Given the description of an element on the screen output the (x, y) to click on. 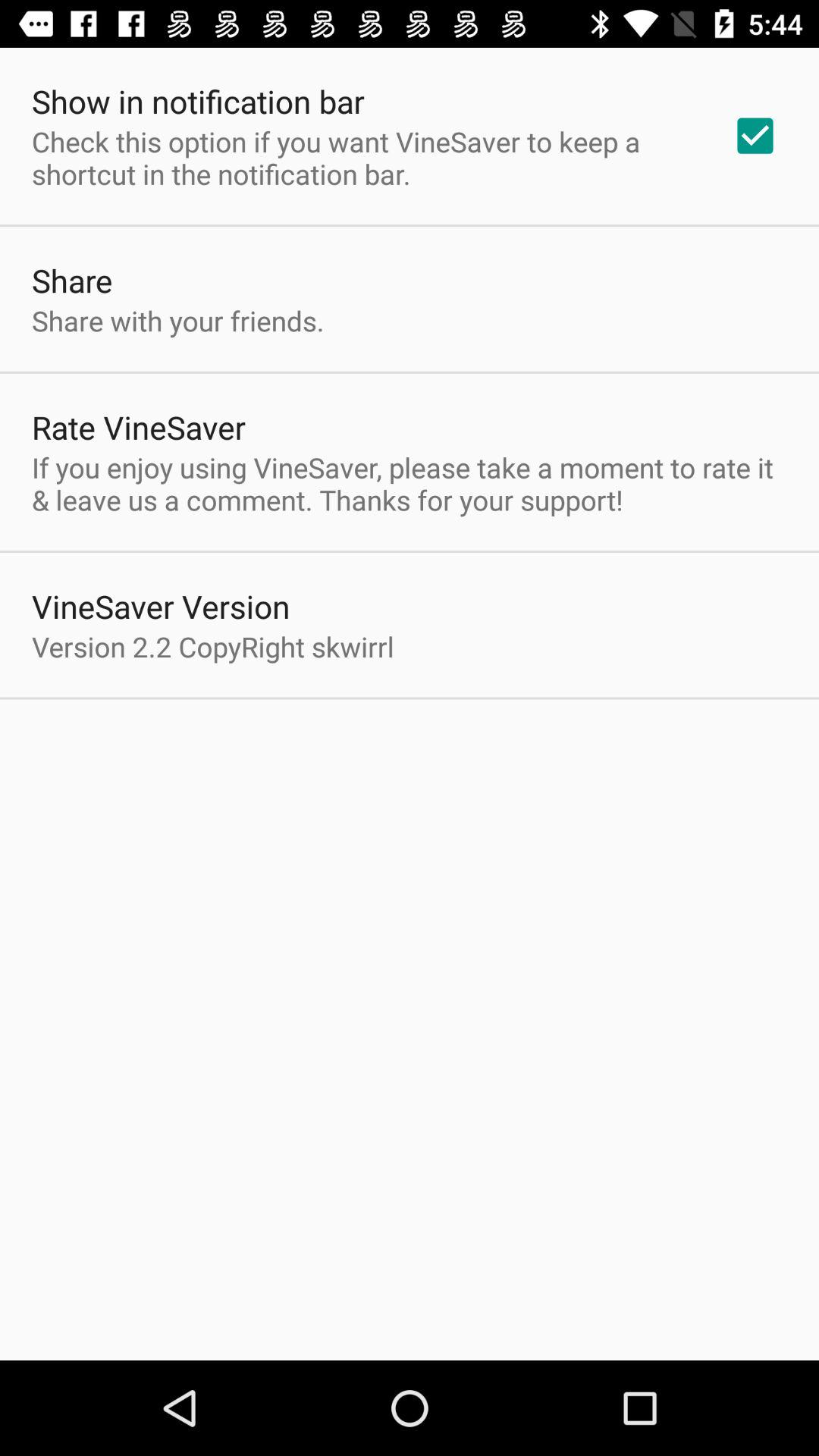
turn on the item above rate vinesaver (177, 320)
